Given the description of an element on the screen output the (x, y) to click on. 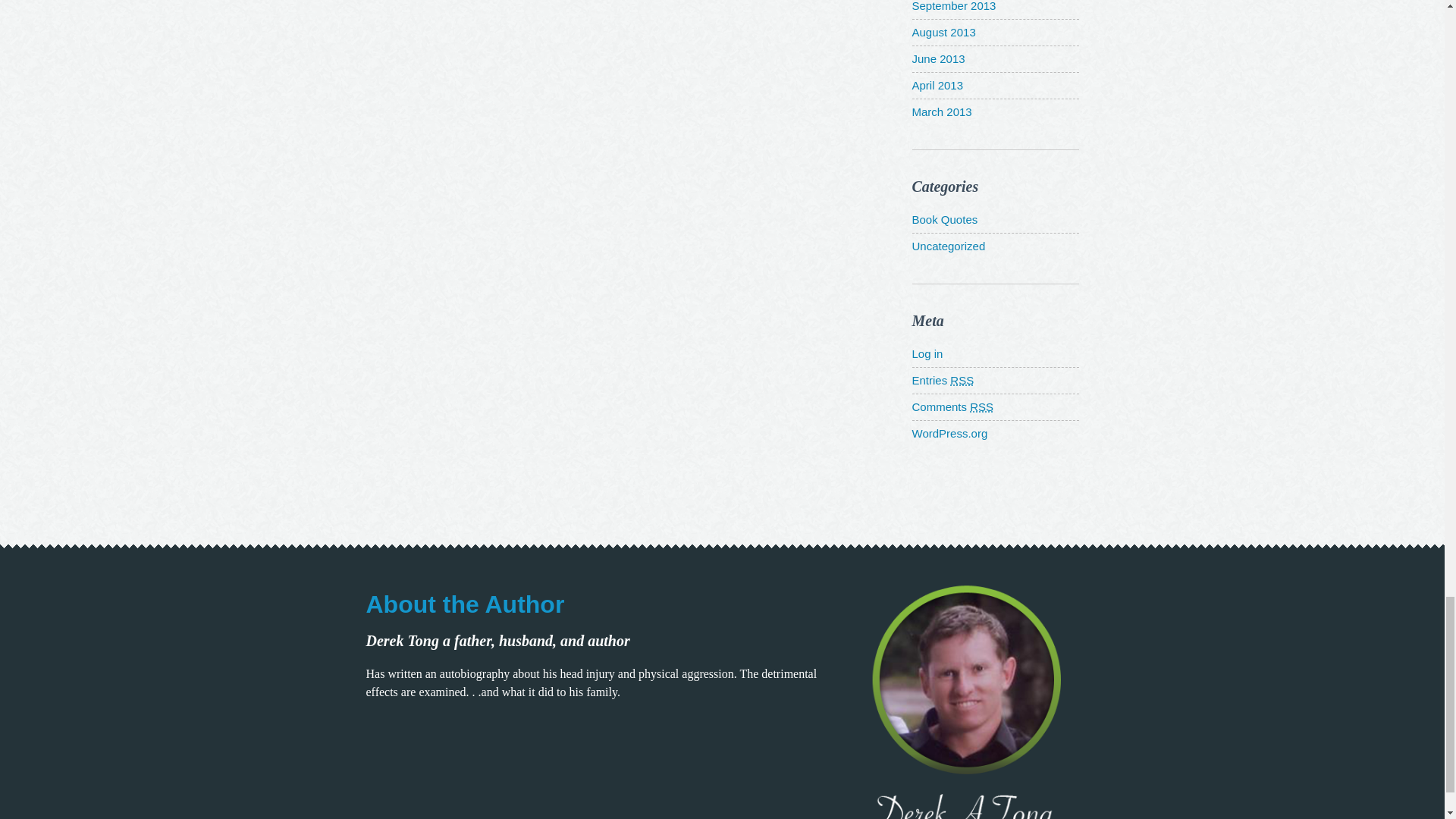
View all posts filed under Uncategorized (948, 245)
Really Simple Syndication (962, 379)
The latest comments to all posts in RSS (951, 406)
Really Simple Syndication (980, 406)
Syndicate this site using RSS 2.0 (942, 379)
View all posts filed under Book Quotes (943, 219)
